Given the description of an element on the screen output the (x, y) to click on. 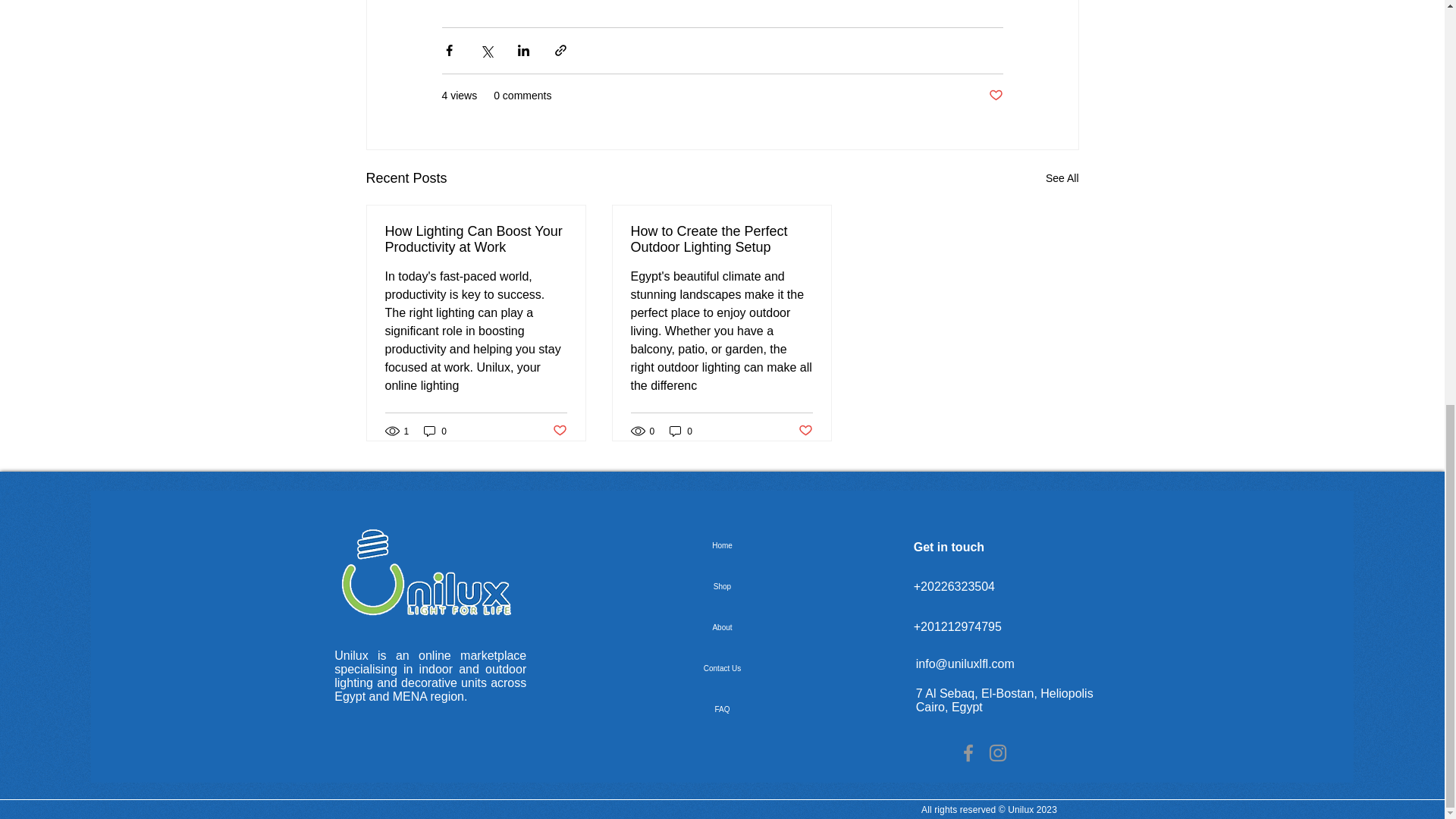
Contact Us (722, 668)
Home (722, 545)
How Lighting Can Boost Your Productivity at Work (476, 239)
Shop (722, 586)
7 Al Sebaq, El-Bostan, Heliopolis Cairo, Egypt (1004, 700)
Post not marked as liked (804, 430)
About (722, 627)
0 (435, 431)
FAQ (722, 709)
0 (681, 431)
